Given the description of an element on the screen output the (x, y) to click on. 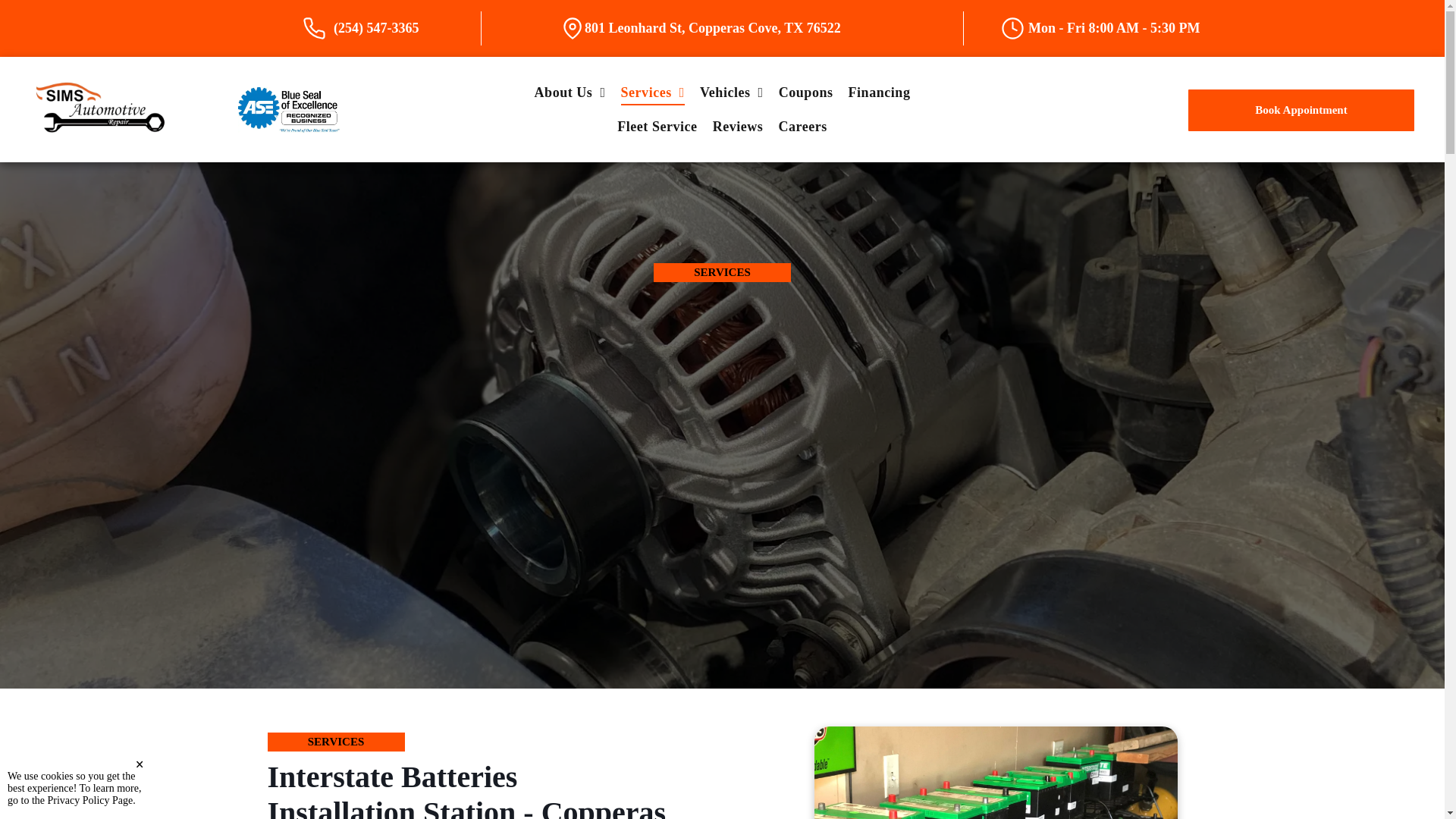
801 Leonhard St, Copperas Cove, TX 76522 (713, 28)
Services (652, 92)
About Us (569, 92)
Go to Homepage (652, 92)
Vehicles (569, 92)
801 Leonhard St, Copperas Cove, TX 76522 (97, 82)
